Given the description of an element on the screen output the (x, y) to click on. 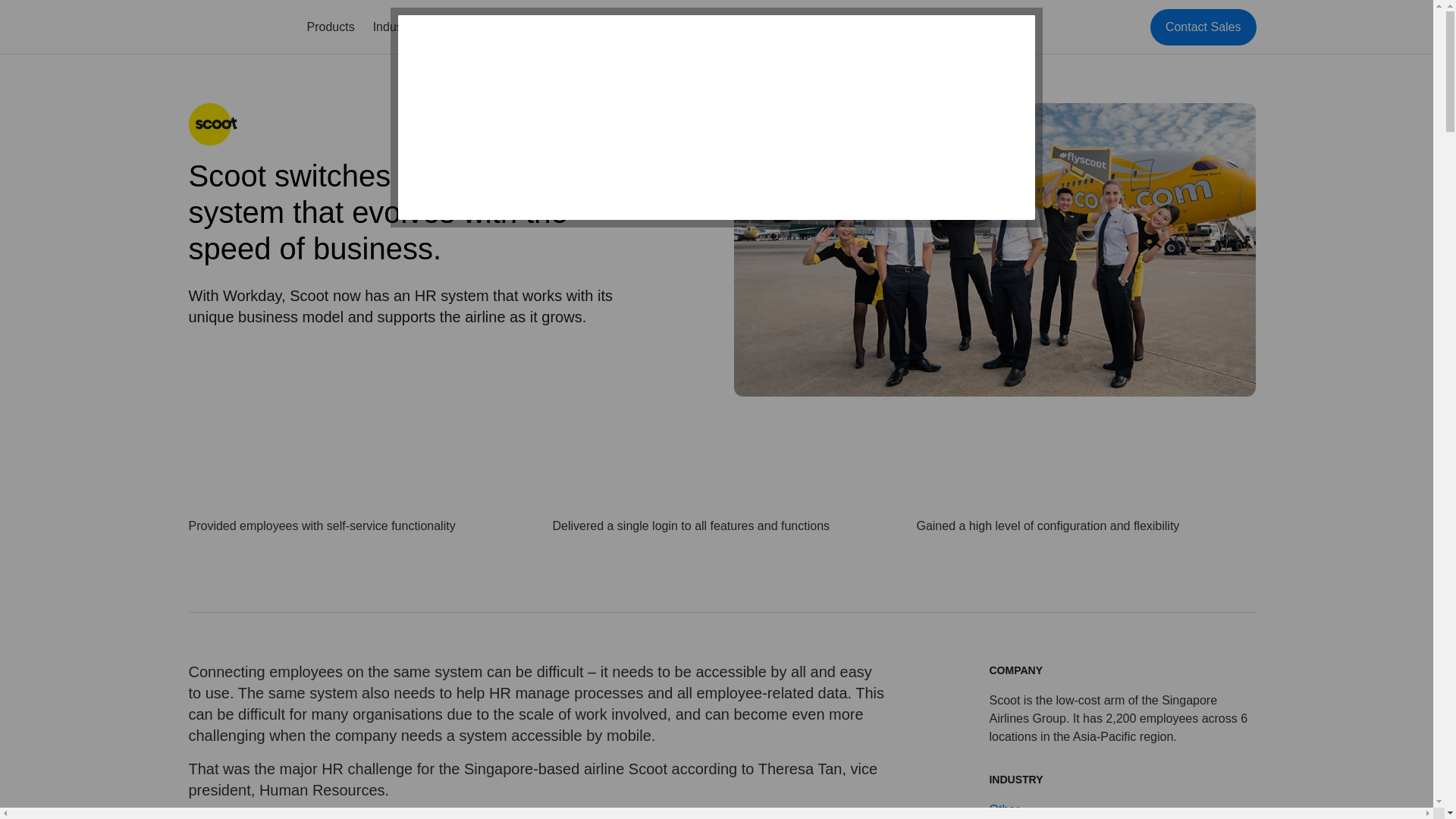
Products (329, 27)
Industries (398, 27)
